Given the description of an element on the screen output the (x, y) to click on. 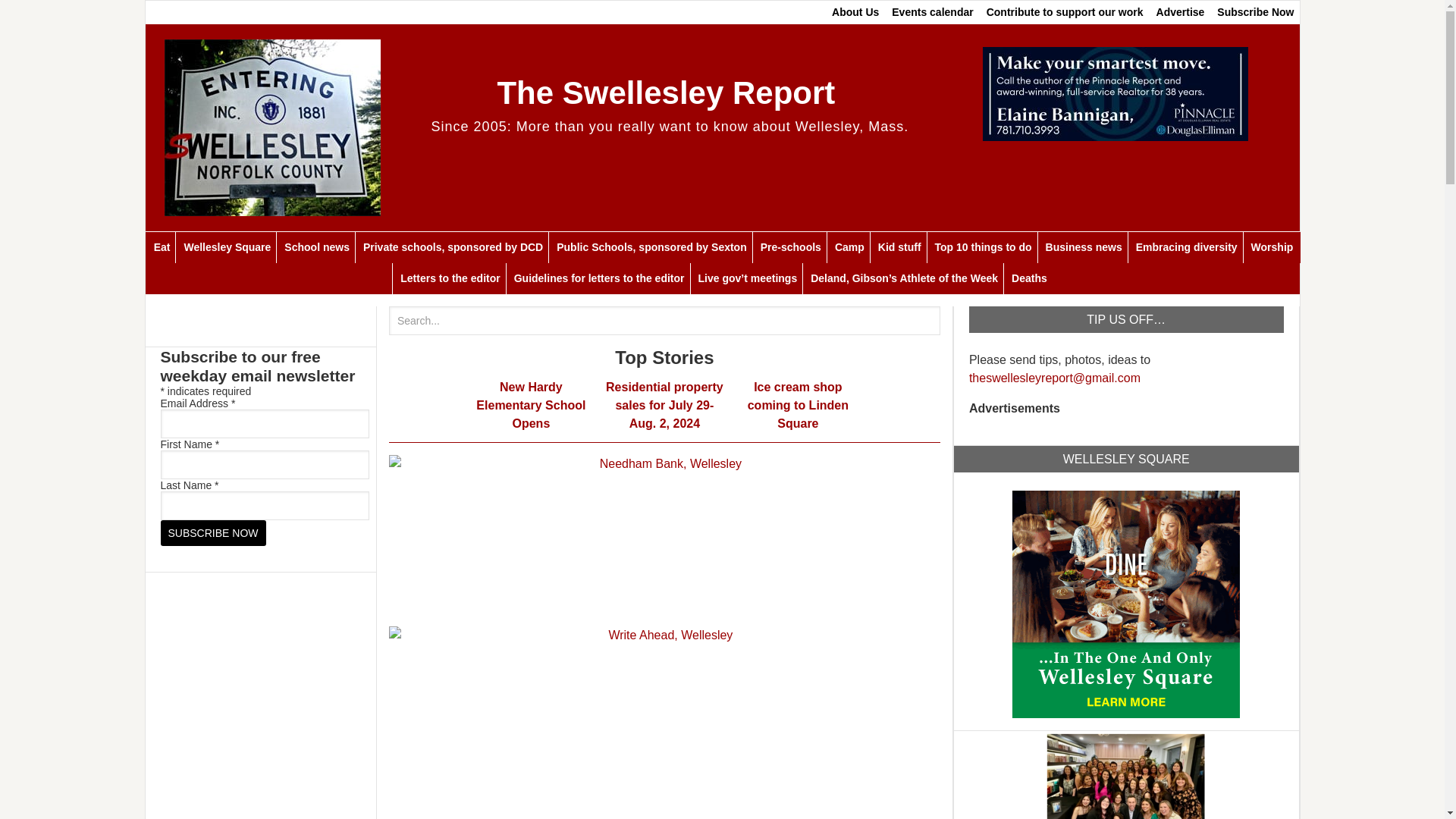
School news (316, 246)
Private schools, sponsored by DCD (452, 246)
New Hardy Elementary School Opens (530, 404)
Subscribe Now (1255, 12)
Subscribe Now (213, 533)
Wellesley Square (226, 246)
Ice cream shop coming to Linden Square (798, 404)
Worship (1272, 246)
Kid stuff (898, 246)
